Given the description of an element on the screen output the (x, y) to click on. 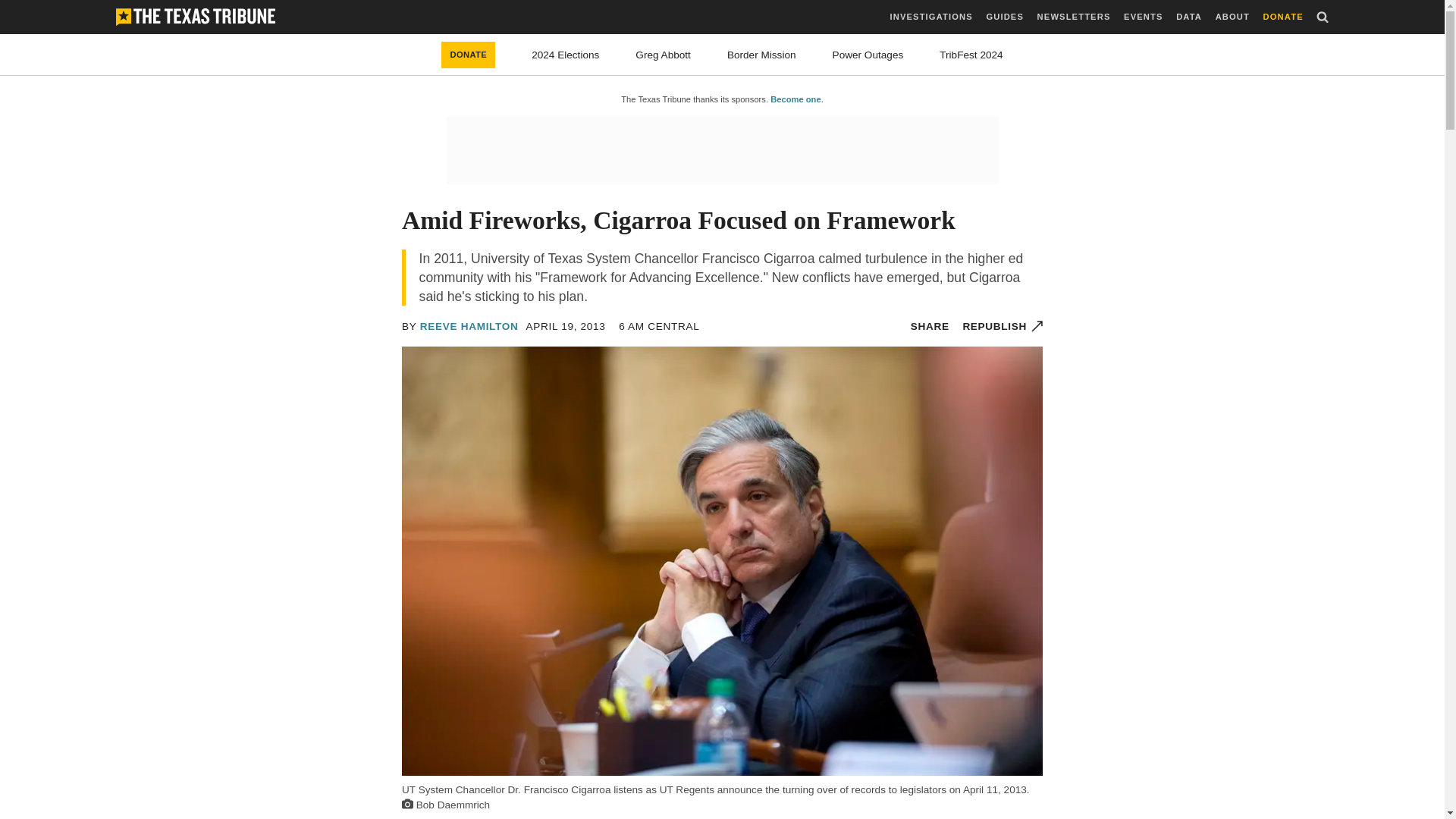
ABOUT (1232, 17)
Become one (795, 99)
INVESTIGATIONS (930, 17)
TribFest 2024 (971, 54)
2013-04-19 06:00 CDT (658, 326)
EVENTS (1142, 17)
DONATE (1283, 17)
REEVE HAMILTON (469, 326)
2024 Elections (564, 54)
DONATE (468, 54)
NEWSLETTERS (1073, 17)
REPUBLISH (1002, 326)
Power Outages (868, 54)
2013-04-19 06:00 CDT (565, 326)
GUIDES (1004, 17)
